Given the description of an element on the screen output the (x, y) to click on. 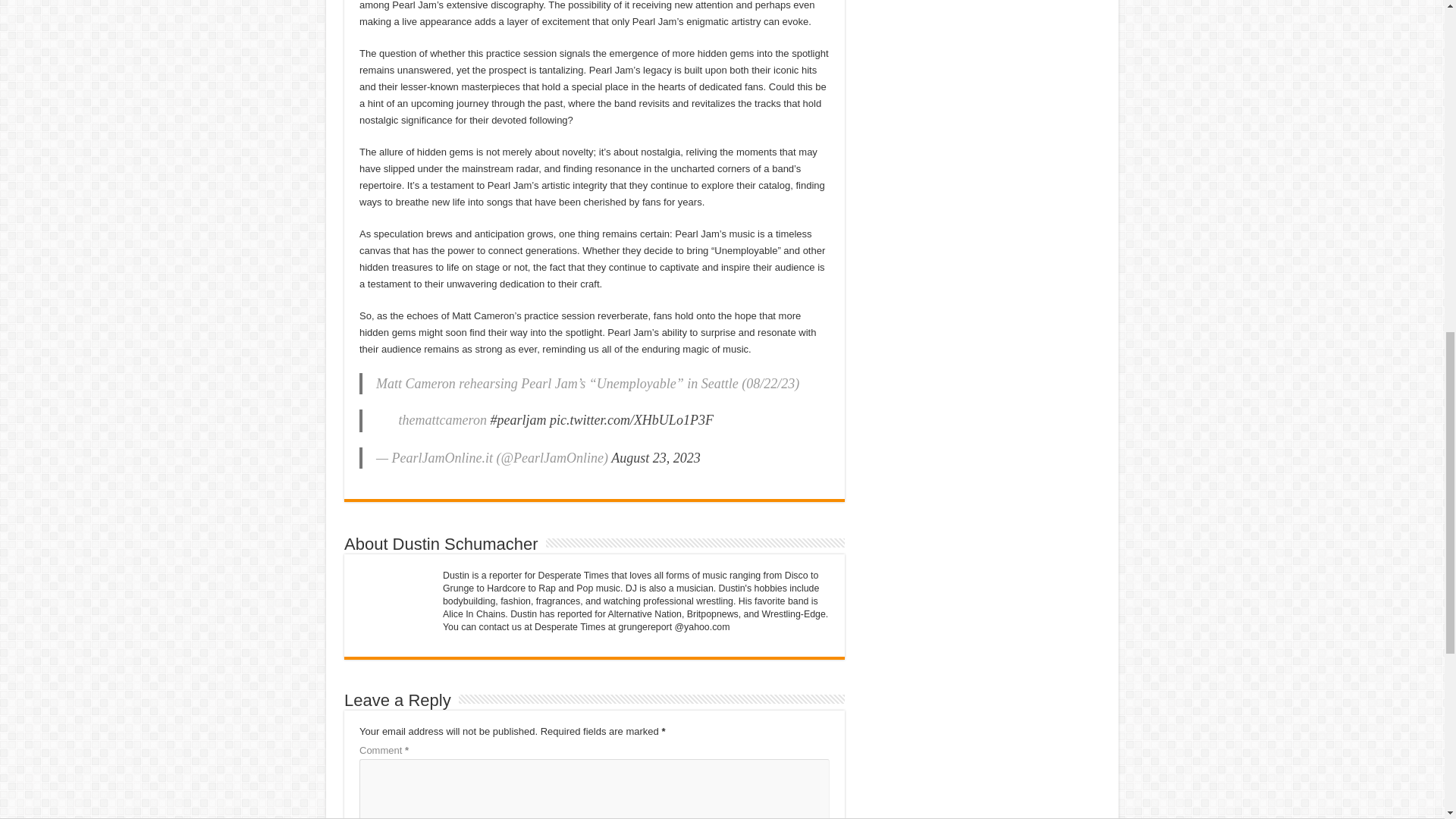
August 23, 2023 (655, 458)
